Given the description of an element on the screen output the (x, y) to click on. 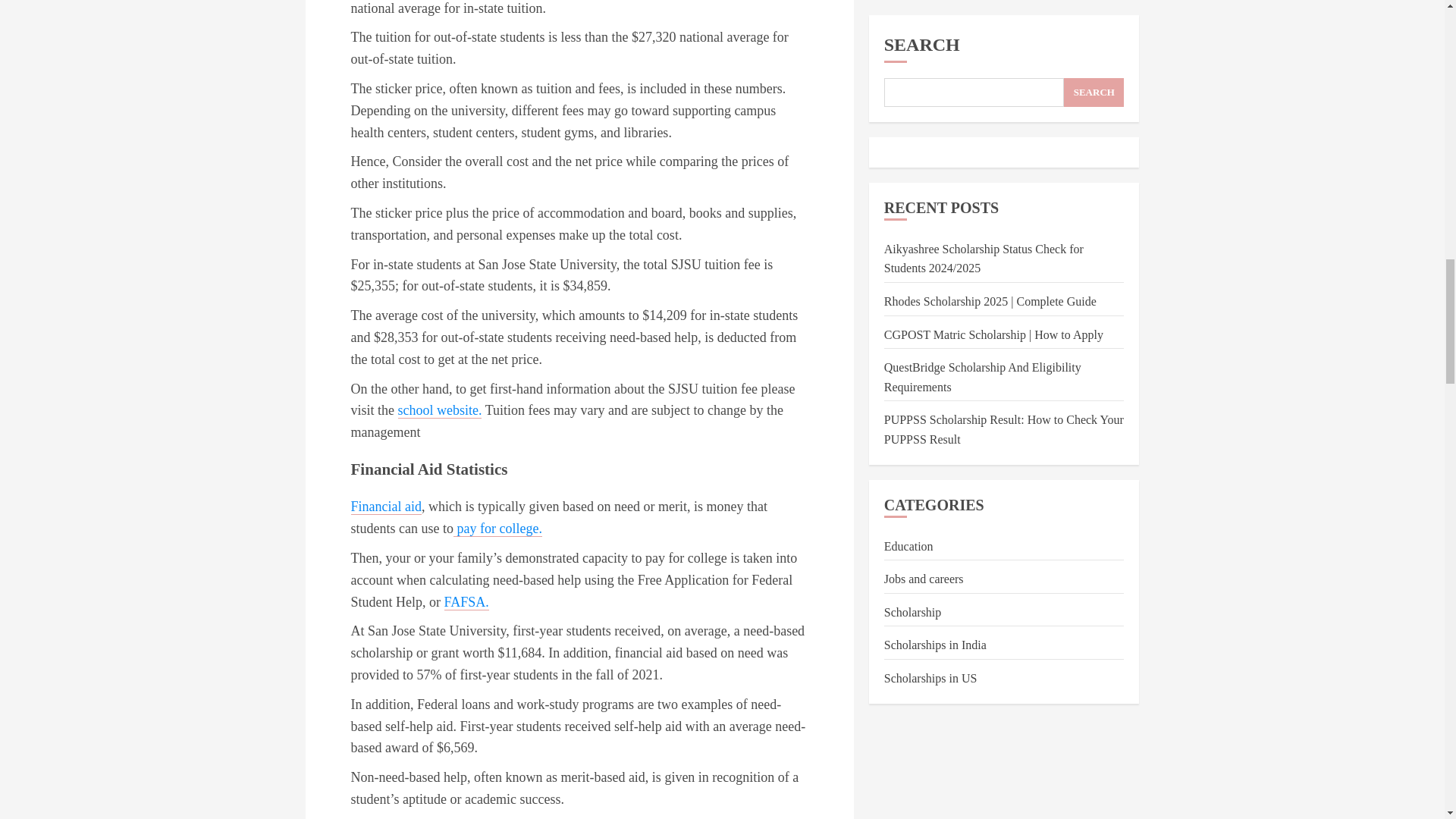
school website. (439, 410)
 pay for college. (496, 528)
FAFSA. (466, 602)
Financial aid (385, 506)
